Given the description of an element on the screen output the (x, y) to click on. 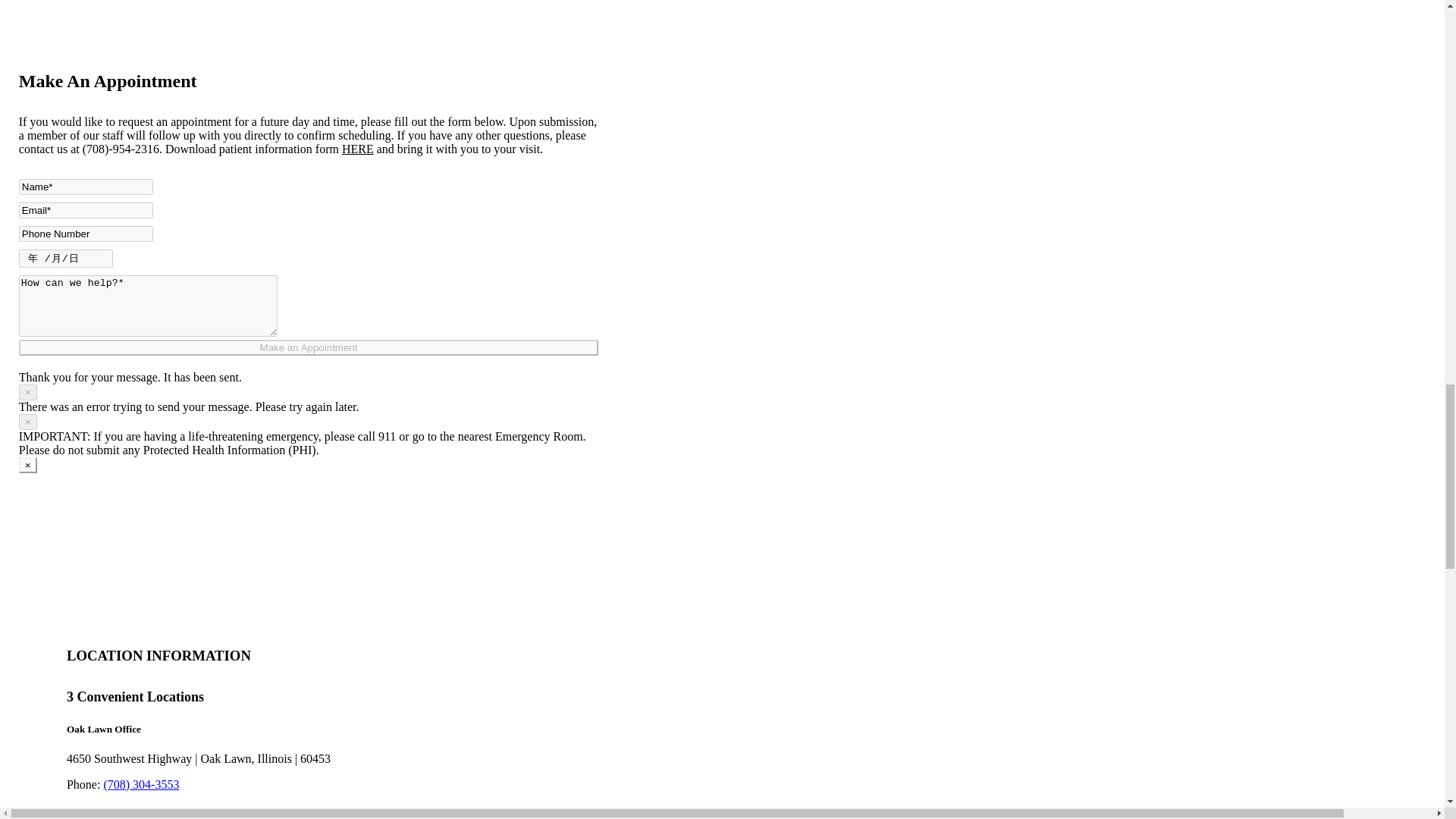
HERE (358, 148)
Make an Appointment (308, 347)
